Given the description of an element on the screen output the (x, y) to click on. 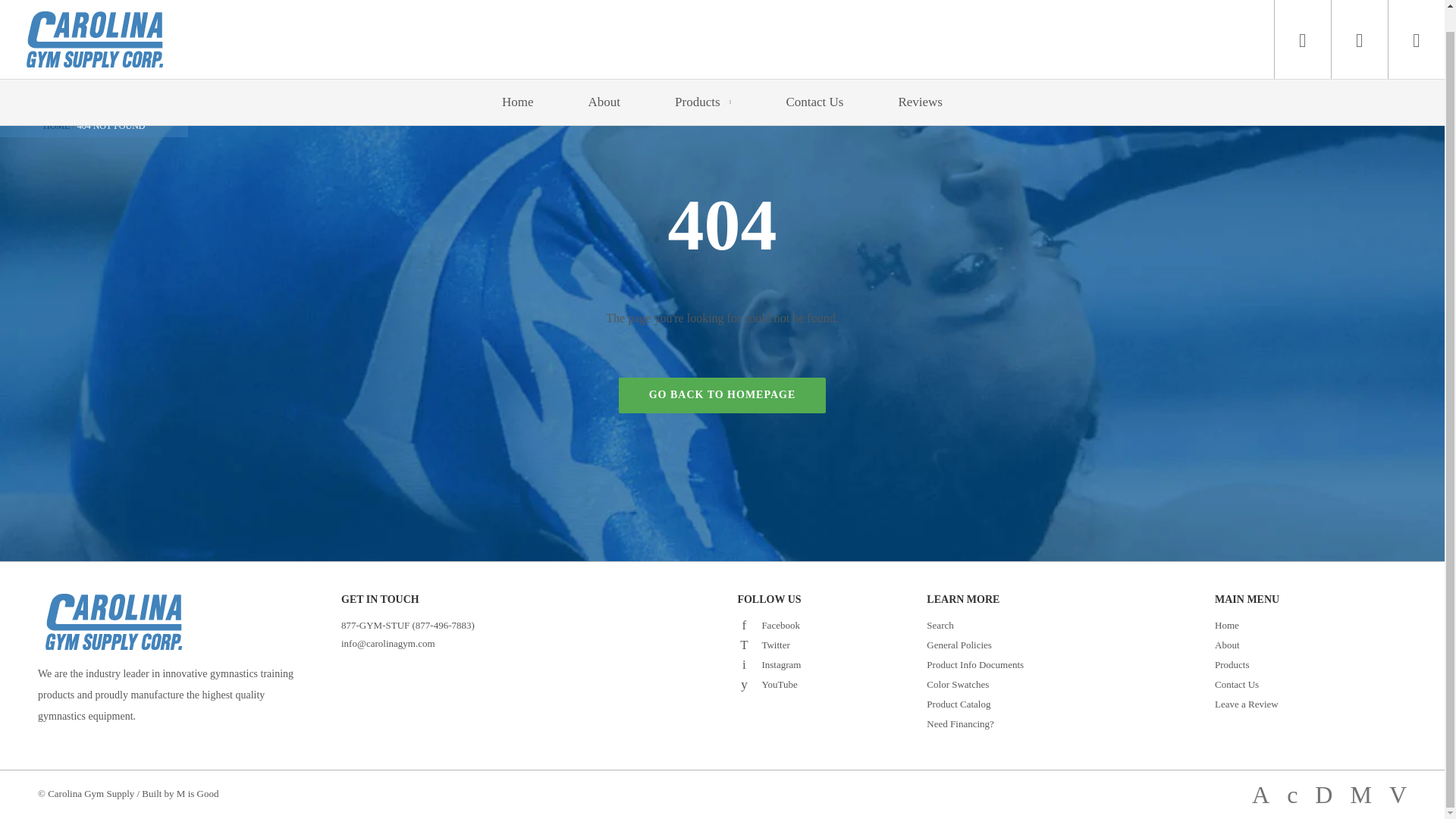
Instagram (743, 663)
Twitter (743, 643)
YouTube (743, 683)
Facebook (743, 623)
